Given the description of an element on the screen output the (x, y) to click on. 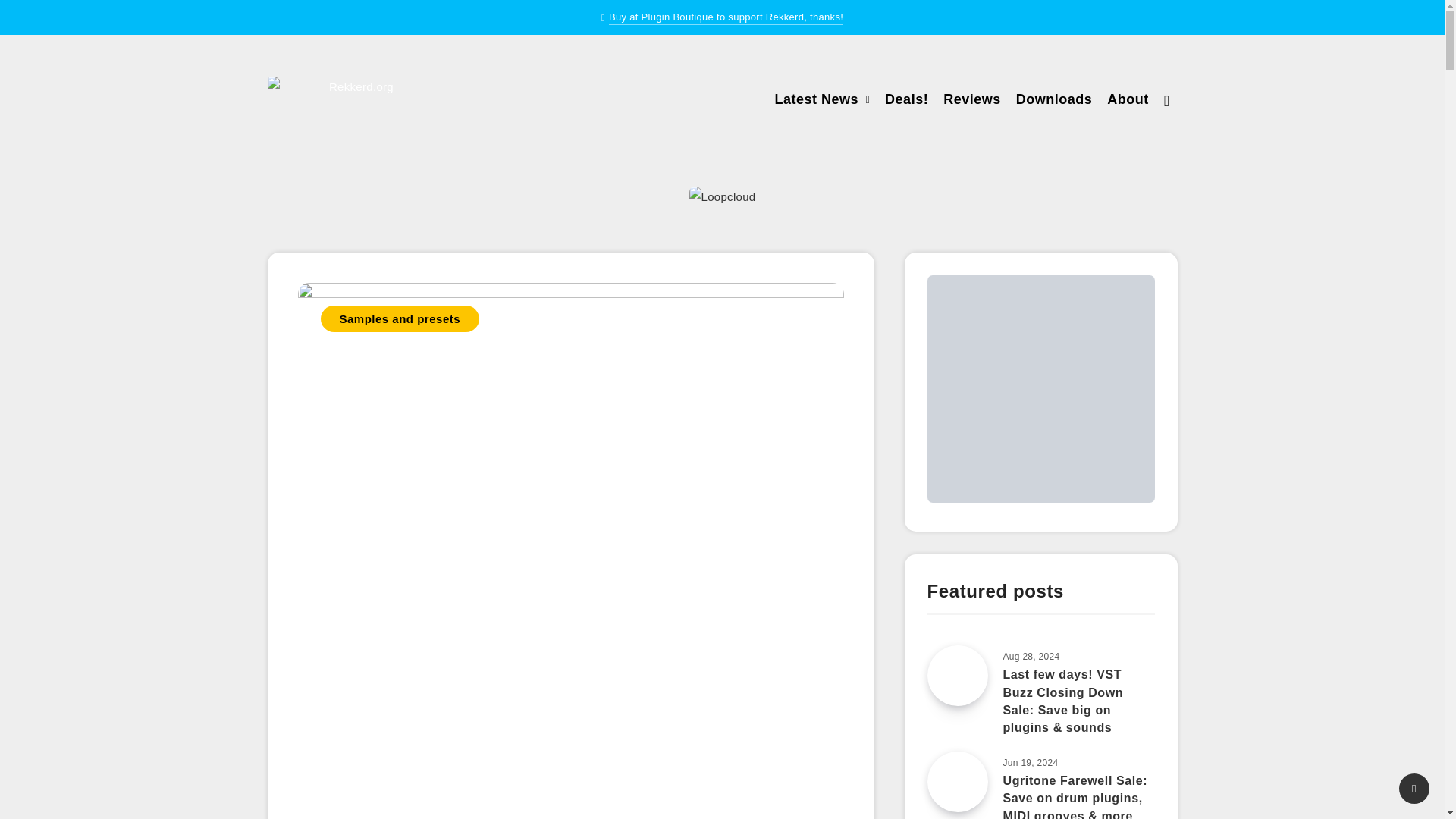
Downloads (1054, 101)
Latest News (816, 101)
Deals! (906, 101)
Reviews (972, 101)
Samples and presets (399, 318)
About (1127, 101)
Buy at Plugin Boutique to support Rekkerd, thanks! (725, 17)
